Given the description of an element on the screen output the (x, y) to click on. 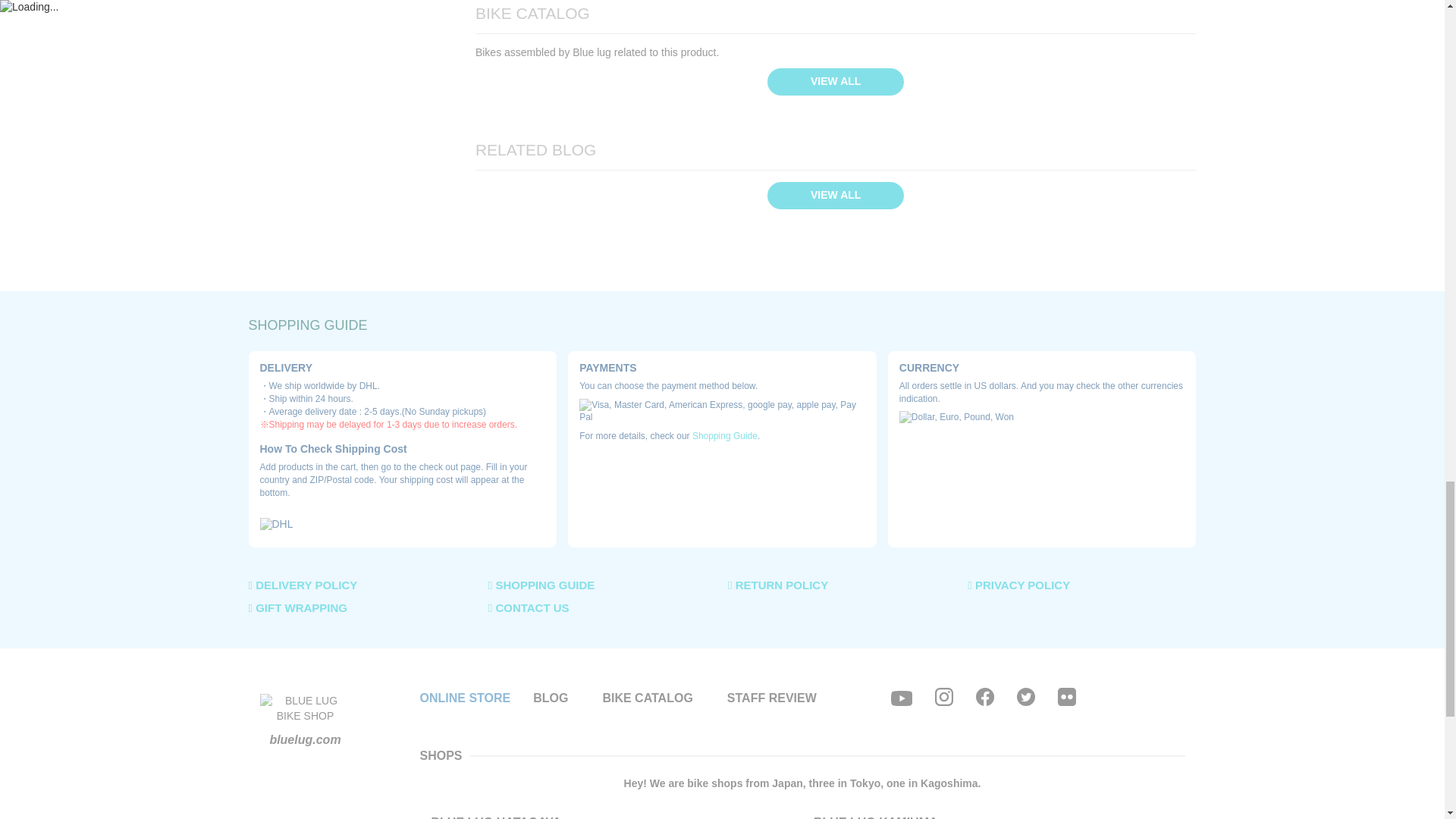
Facebook (984, 696)
twitter (1025, 696)
flickr (1066, 696)
youtube (901, 698)
